Given the description of an element on the screen output the (x, y) to click on. 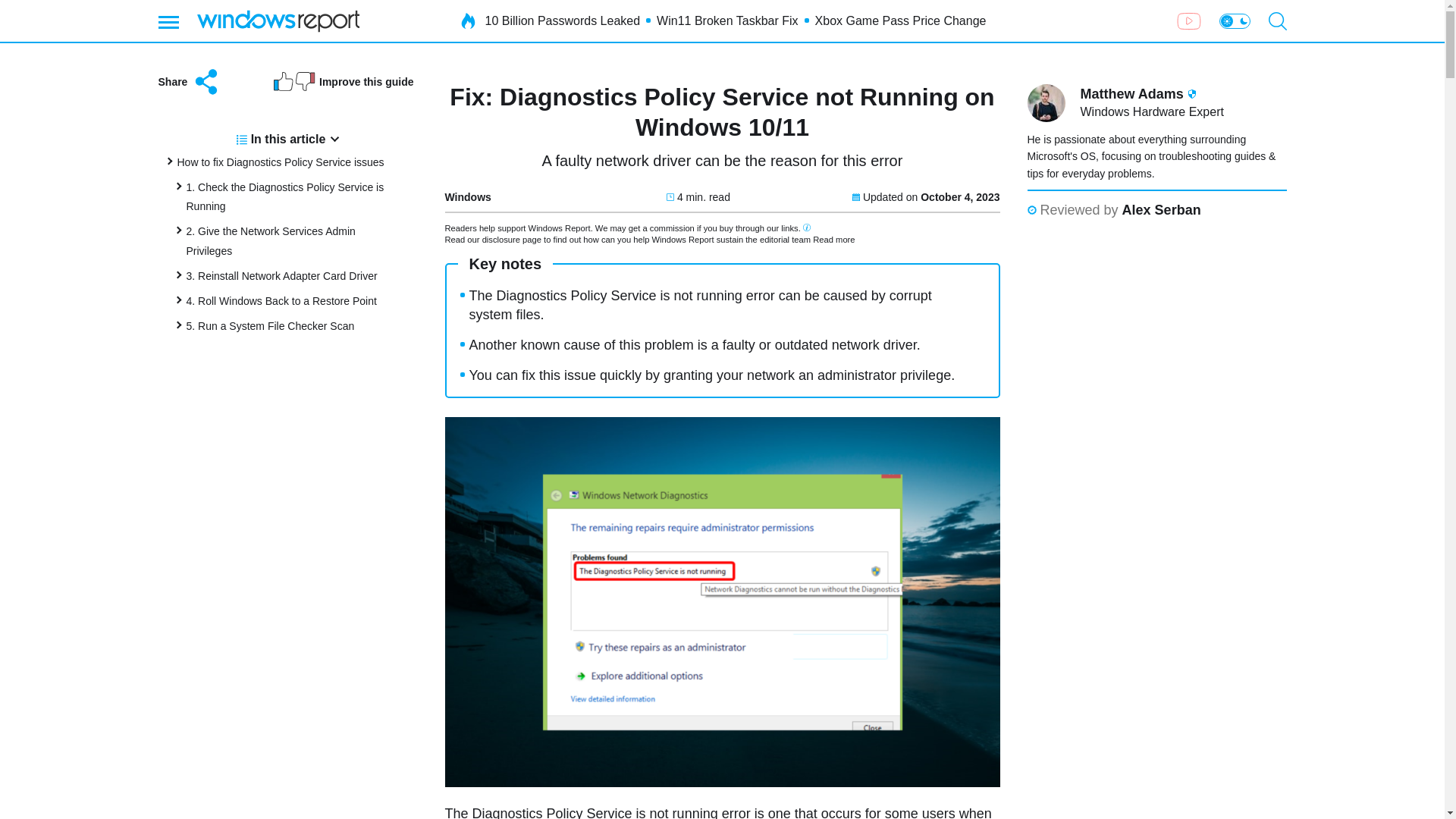
How to fix Diagnostics Policy Service issues (280, 162)
4. Roll Windows Back to a Restore Point (281, 300)
3. Reinstall Network Adapter Card Driver (281, 275)
Share this article (189, 81)
1. Check the Diagnostics Policy Service is Running (285, 196)
Share (189, 81)
2. Give the Network Services Admin Privileges (270, 240)
Xbox Game Pass Price Change (901, 21)
10 Billion Passwords Leaked (562, 21)
5. Run a System File Checker Scan (270, 326)
Open search bar (1276, 21)
Win11 Broken Taskbar Fix (726, 21)
